Given the description of an element on the screen output the (x, y) to click on. 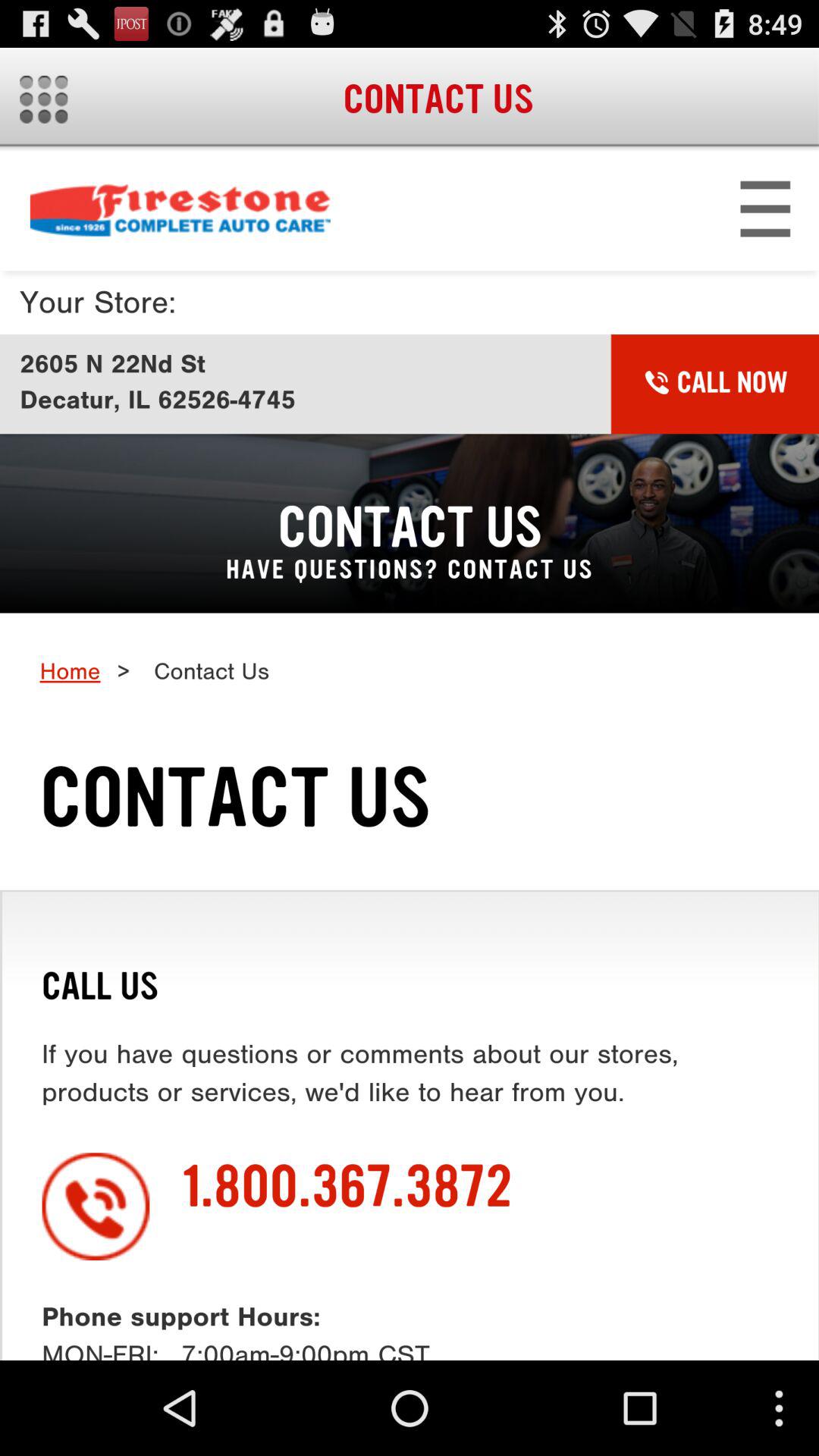
click to menu (43, 99)
